Given the description of an element on the screen output the (x, y) to click on. 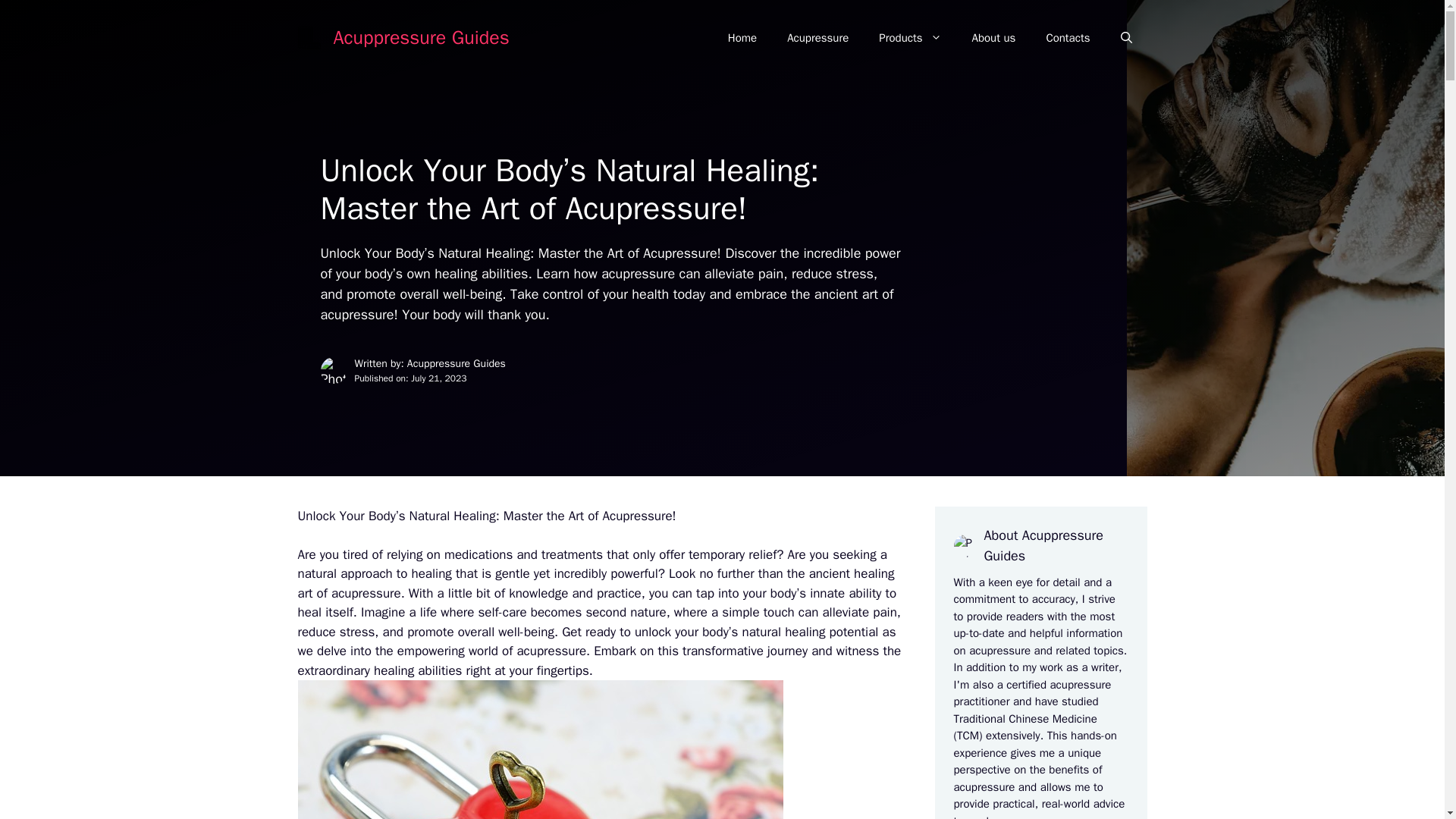
Home (742, 37)
Acupressure (817, 37)
Products (909, 37)
Contacts (1067, 37)
About us (993, 37)
Acuppressure Guides (421, 37)
